Given the description of an element on the screen output the (x, y) to click on. 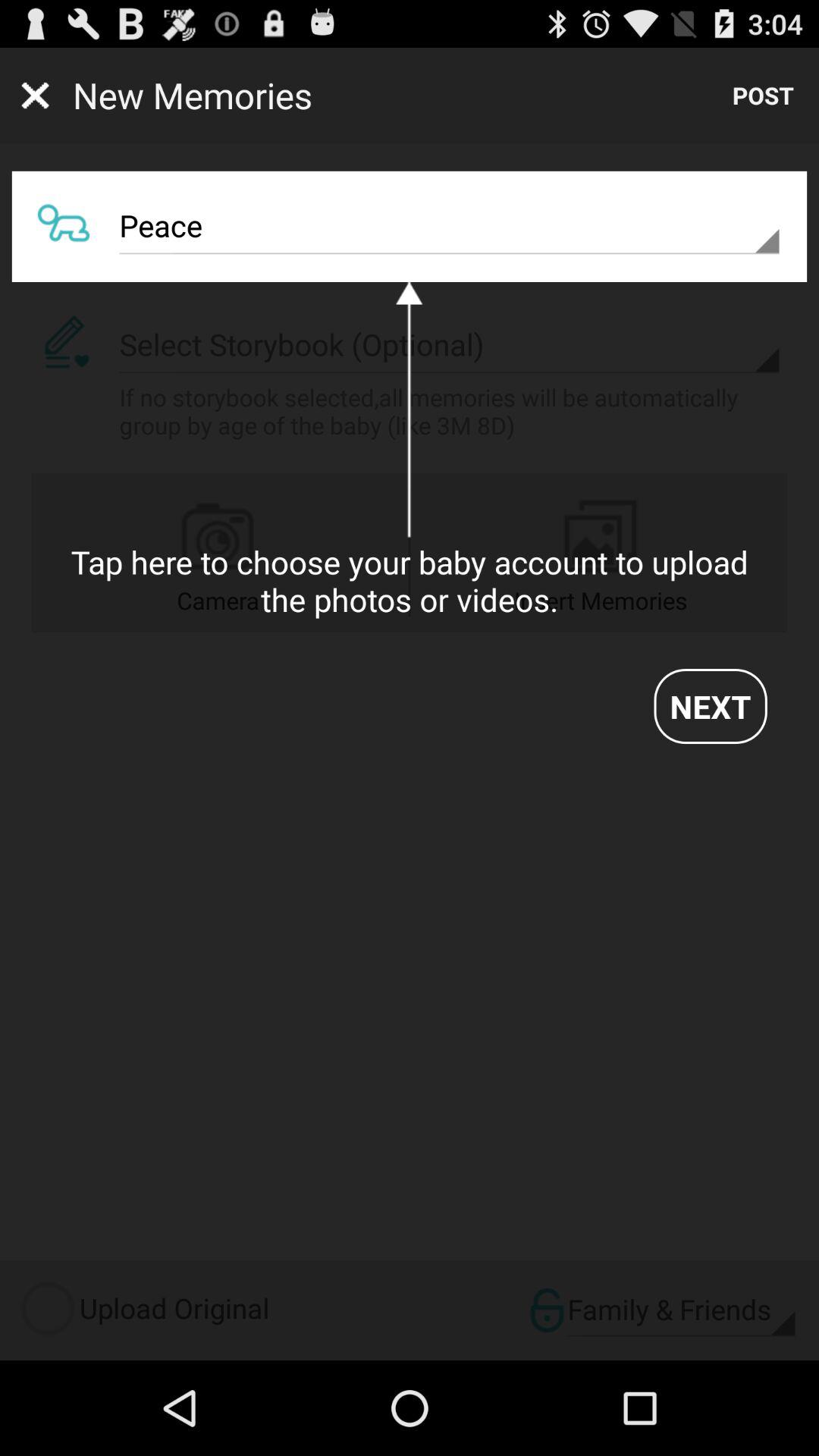
open item below the tap here to (710, 705)
